Given the description of an element on the screen output the (x, y) to click on. 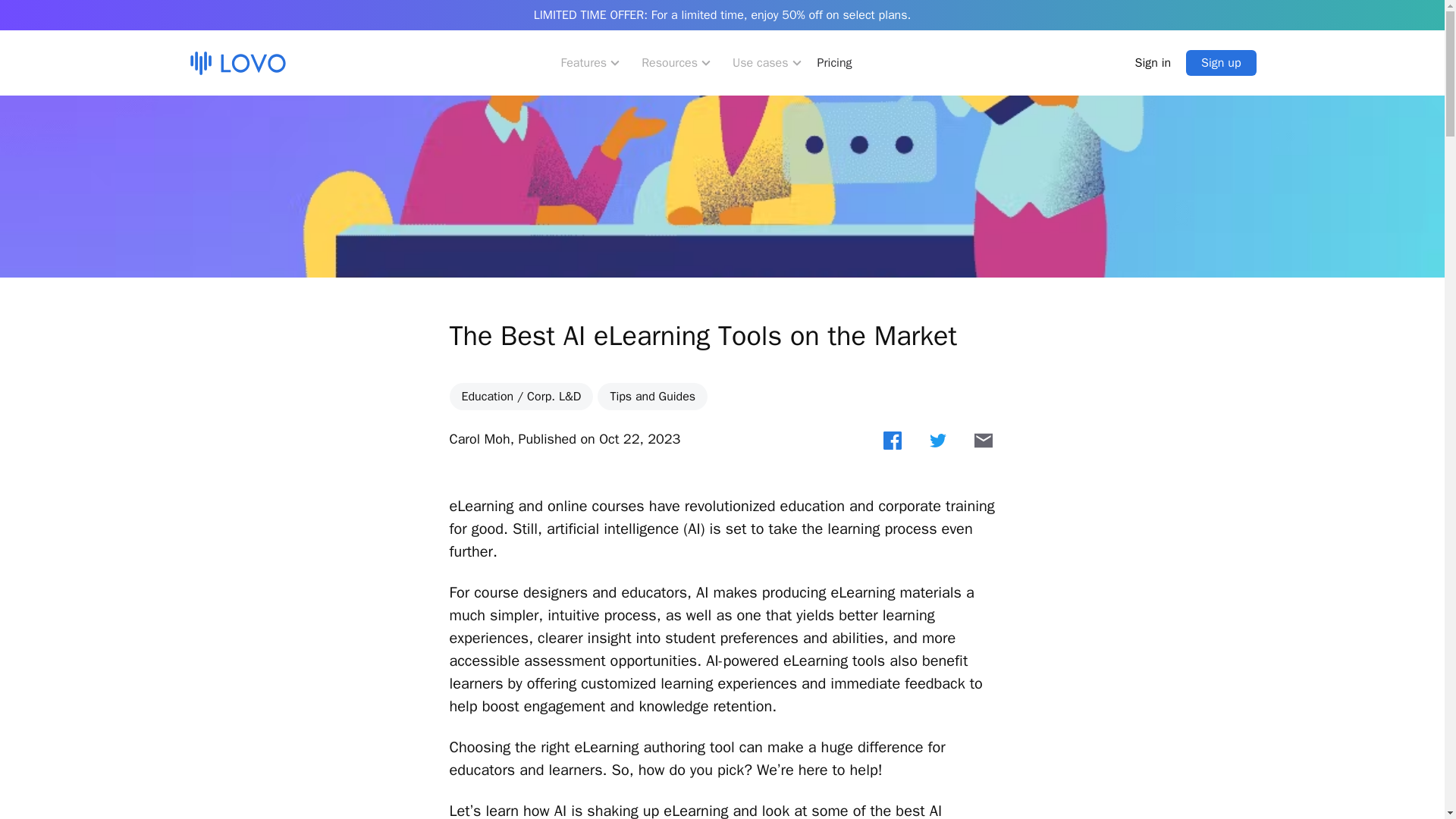
Pricing (833, 62)
Features (591, 62)
Sign up (1220, 62)
Use cases (768, 62)
Resources (677, 62)
Sign in (1152, 62)
Tips and Guides (651, 396)
